Given the description of an element on the screen output the (x, y) to click on. 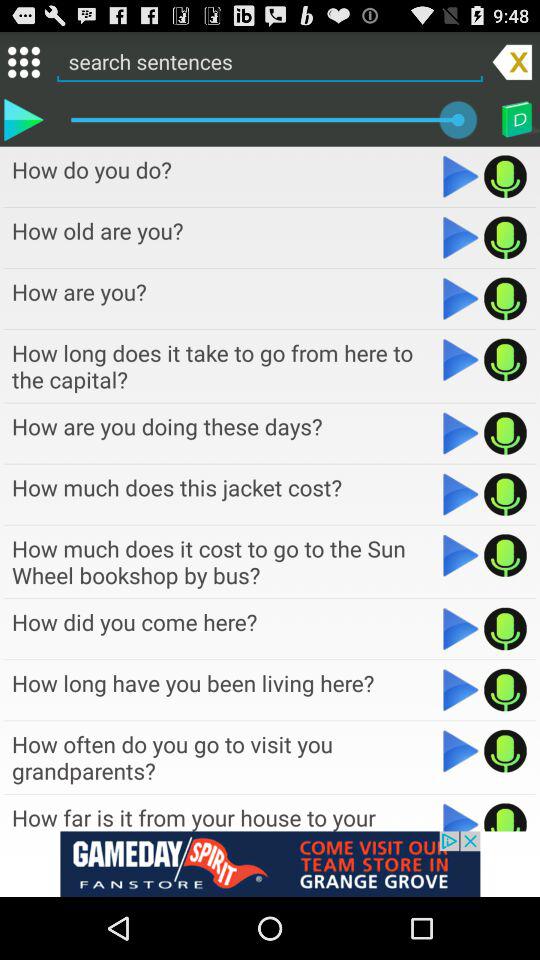
search sentences how are you doing these days (505, 433)
